Given the description of an element on the screen output the (x, y) to click on. 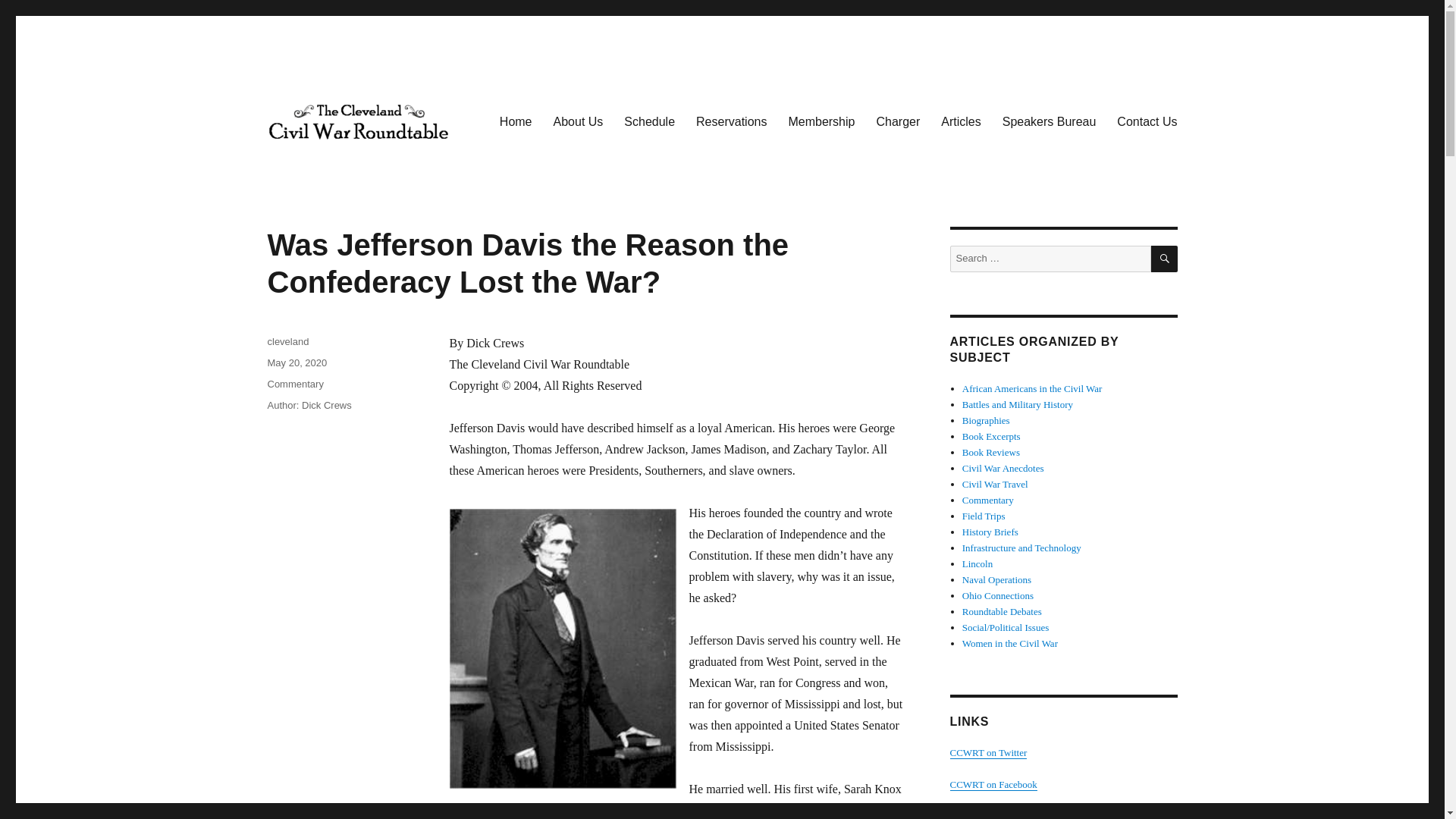
Charger (897, 121)
Schedule (648, 121)
CCWRT on YouTube (991, 814)
May 20, 2020 (296, 362)
Civil War Anecdotes (1002, 468)
Battles and Military History (1017, 404)
Women in the Civil War (1010, 643)
Lincoln (977, 563)
Membership (820, 121)
Commentary (294, 383)
